Given the description of an element on the screen output the (x, y) to click on. 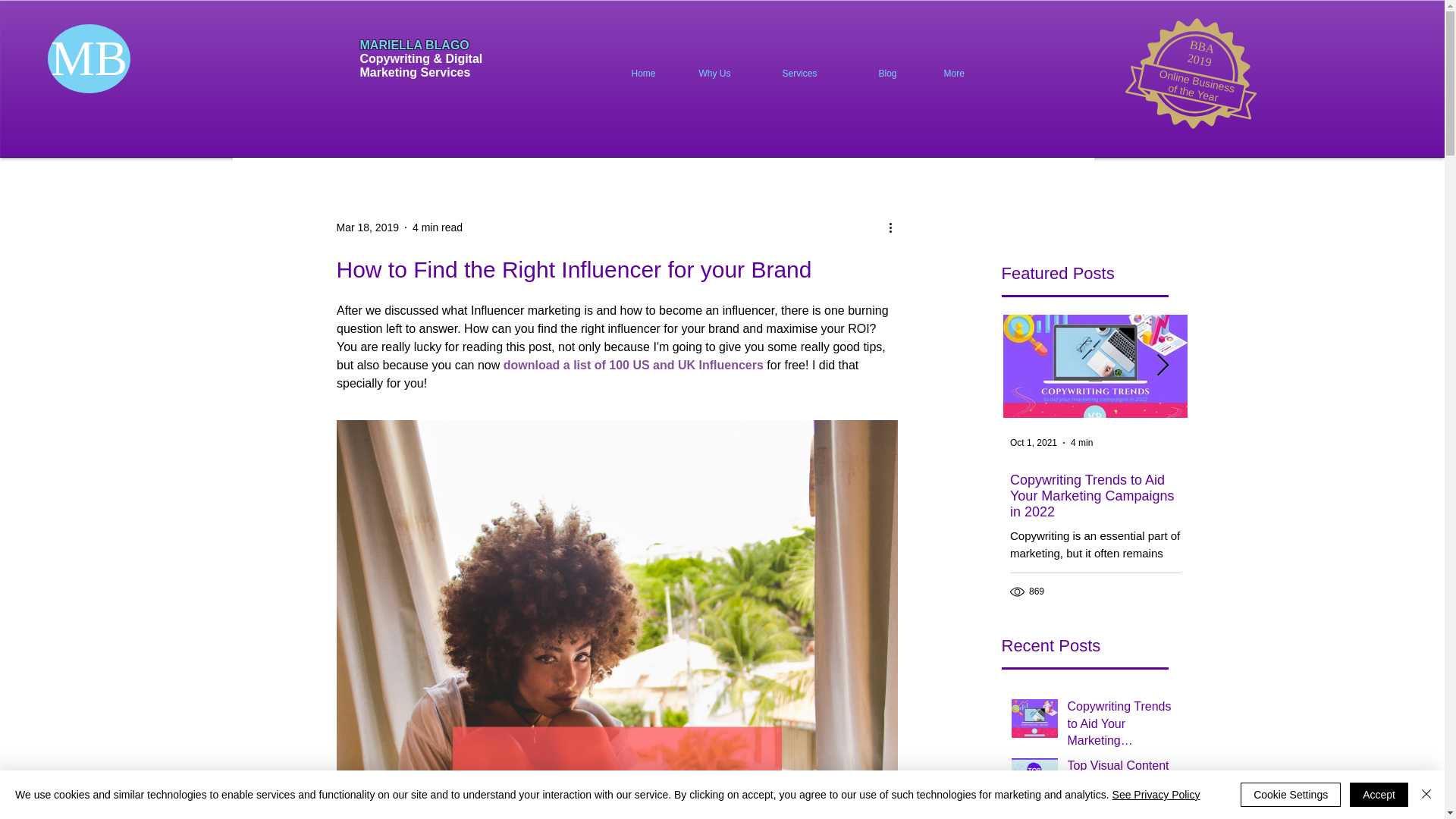
Services (818, 73)
download a list of 100 US and UK Influencers (632, 364)
7 min (1273, 442)
Copywriting Trends to Aid Your Marketing Campaigns in 2022 (1123, 726)
4 min (1081, 442)
Home (653, 73)
Mar 18, 2019 (367, 227)
MB (89, 58)
Sep 10, 2021 (1220, 442)
Blog (900, 73)
Copywriting Trends to Aid Your Marketing Campaigns in 2022 (1095, 496)
2022 Digital Marketing Trends You Must Follow (1278, 488)
Why Us (728, 73)
4 min read (437, 227)
